Given the description of an element on the screen output the (x, y) to click on. 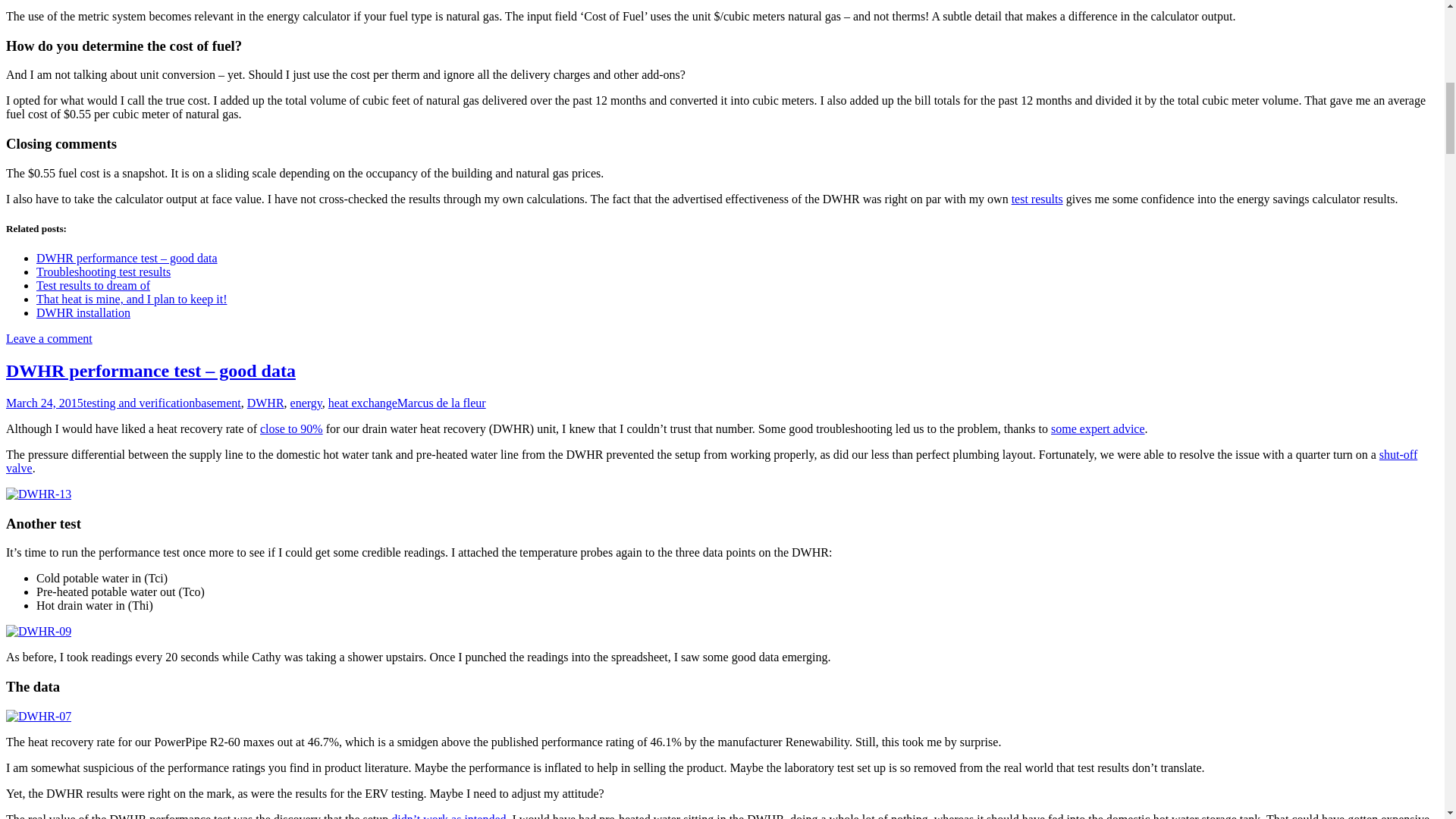
View all posts by Marcus de la fleur (441, 402)
That heat is mine, and I plan to keep it! (131, 298)
heat exchange (363, 402)
March 24, 2015 (43, 402)
test results (1036, 198)
That heat is mine, and I plan to keep it! (131, 298)
Leave a comment (49, 338)
Marcus de la fleur (441, 402)
DWHR (265, 402)
testing and verification (138, 402)
